Given the description of an element on the screen output the (x, y) to click on. 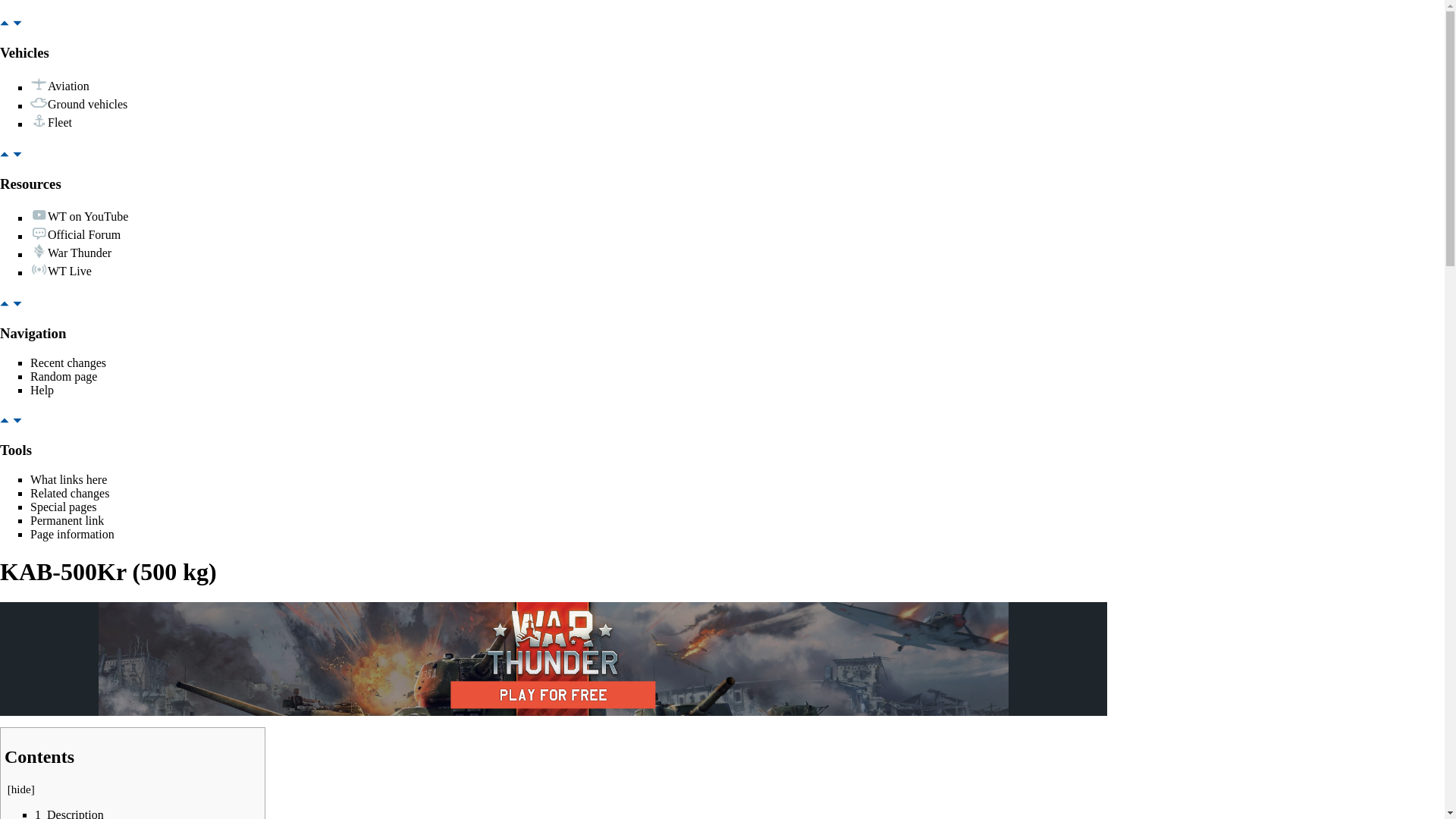
Ground vehicles (88, 104)
What links here (68, 479)
Permanent link (66, 520)
Aviation (68, 86)
War Thunder (80, 253)
WT on YouTube (88, 216)
Official Forum (84, 234)
WT Live (69, 271)
The place to find out (41, 390)
Random page (63, 376)
Permanent link to this revision of the page (66, 520)
Special pages (63, 506)
Page information (72, 533)
Fleet (59, 122)
1 Description (68, 813)
